Given the description of an element on the screen output the (x, y) to click on. 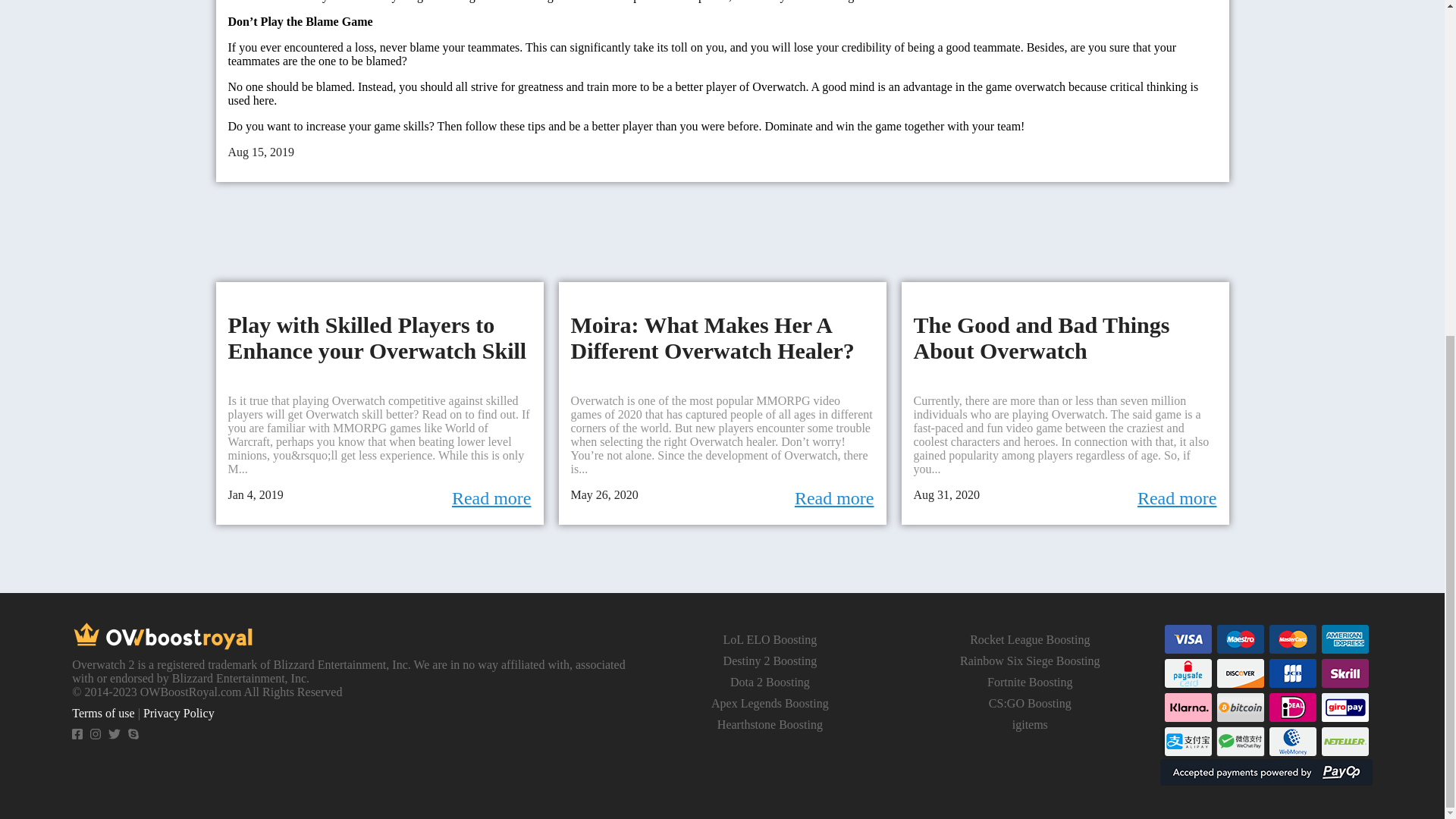
Terms of use (102, 712)
Read more (1177, 498)
Privacy Policy (178, 712)
Rocket League Boosting (1029, 639)
Terms of use (102, 712)
Privacy Policy (178, 712)
Read more (834, 498)
Fortnite Boosting (1029, 681)
CS:GO Boosting (1029, 703)
Rainbow Six Siege Boosting (1029, 660)
